Given the description of an element on the screen output the (x, y) to click on. 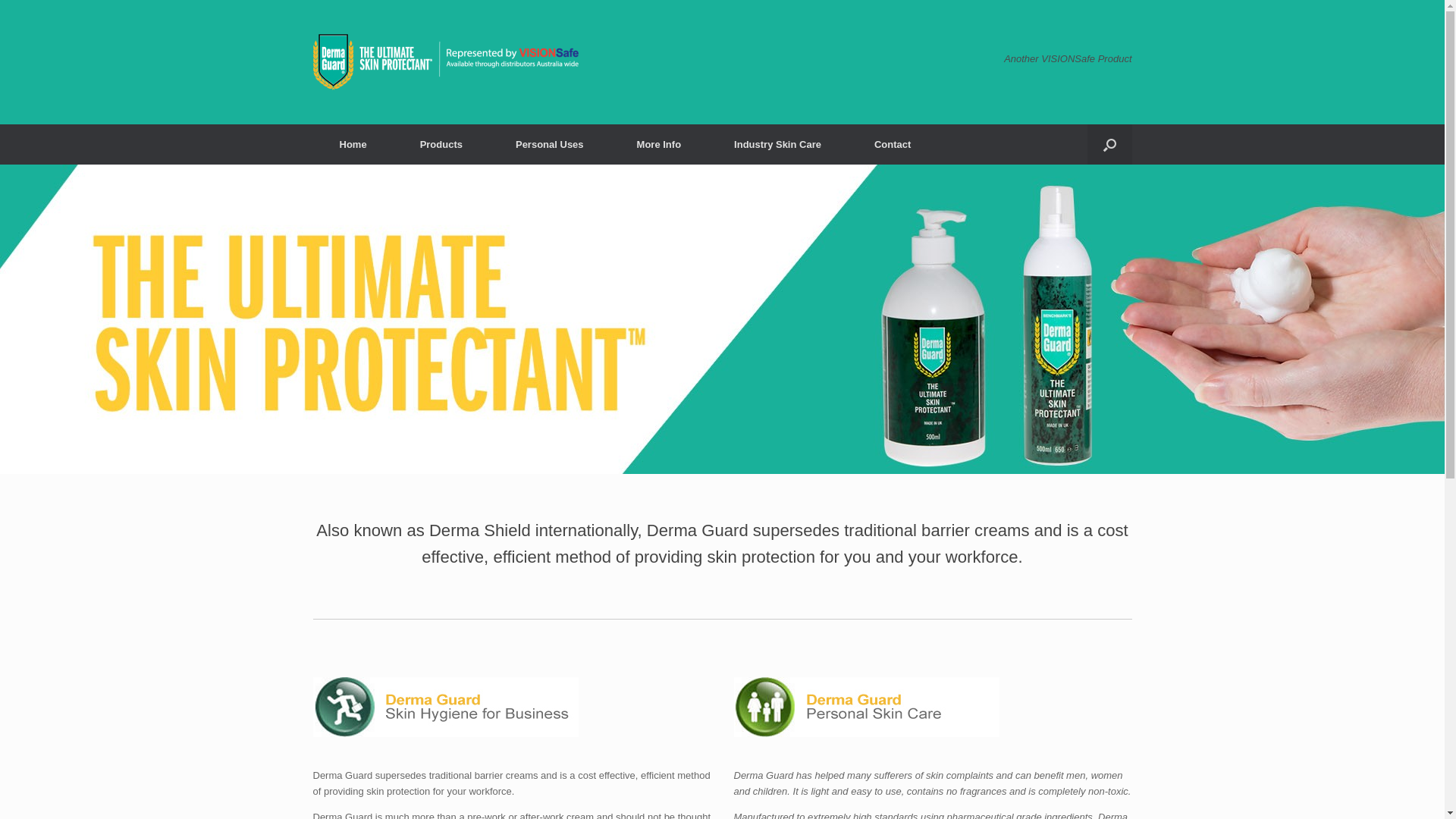
Personal Uses Element type: text (549, 144)
Derma Guard Element type: hover (444, 62)
More Info Element type: text (659, 144)
Contact Element type: text (892, 144)
Industry Skin Care Element type: text (777, 144)
Products Element type: text (441, 144)
Home Element type: text (352, 144)
